Given the description of an element on the screen output the (x, y) to click on. 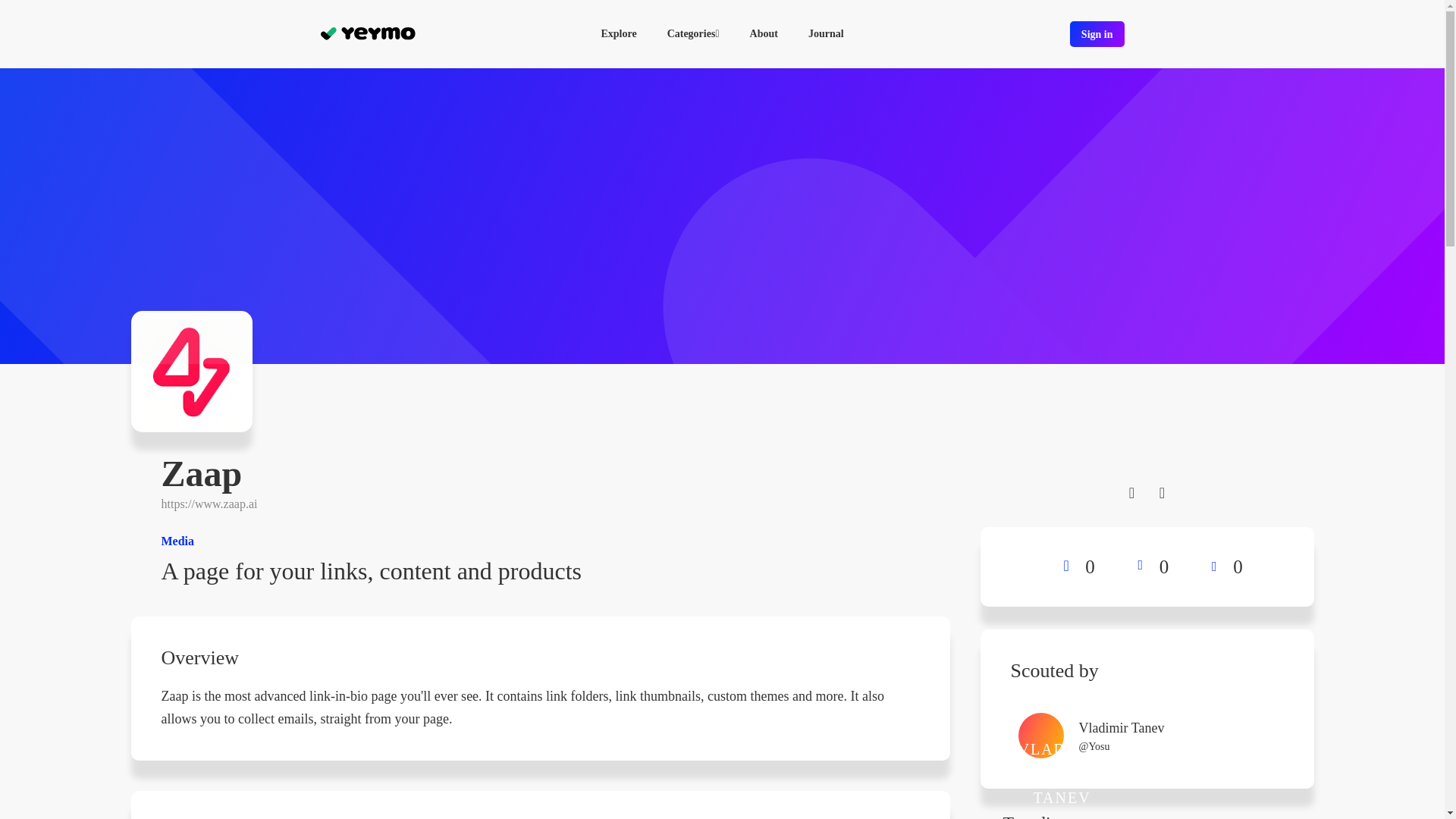
Sign in (1097, 33)
Media (539, 540)
Twitter (1131, 492)
Instagram (1161, 492)
Yeymo (367, 33)
View profile (1256, 735)
